Given the description of an element on the screen output the (x, y) to click on. 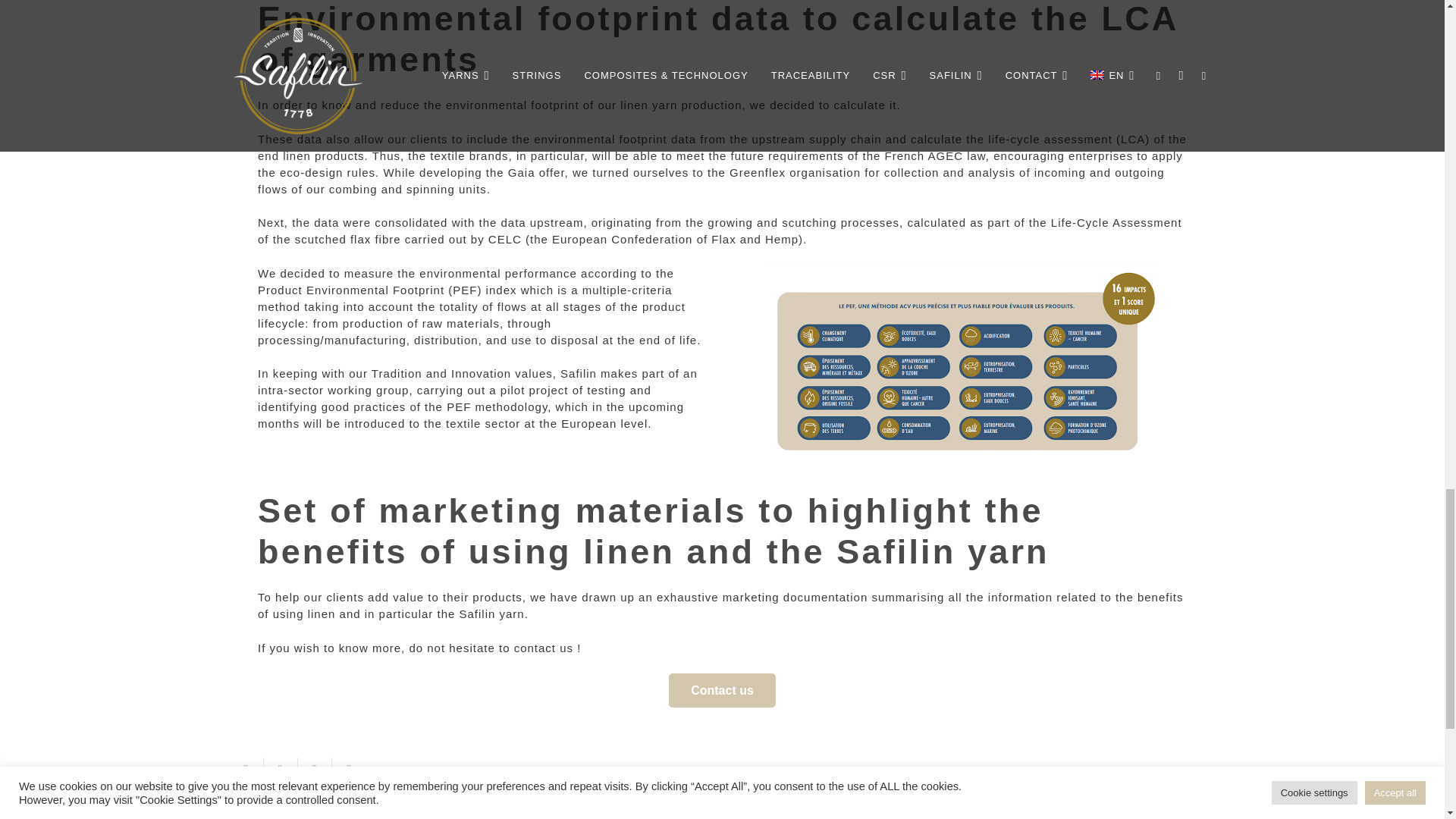
Share this (348, 768)
Contact us (721, 690)
Email this (245, 768)
Contact (721, 690)
Share this (280, 768)
Tweet this (314, 768)
